Given the description of an element on the screen output the (x, y) to click on. 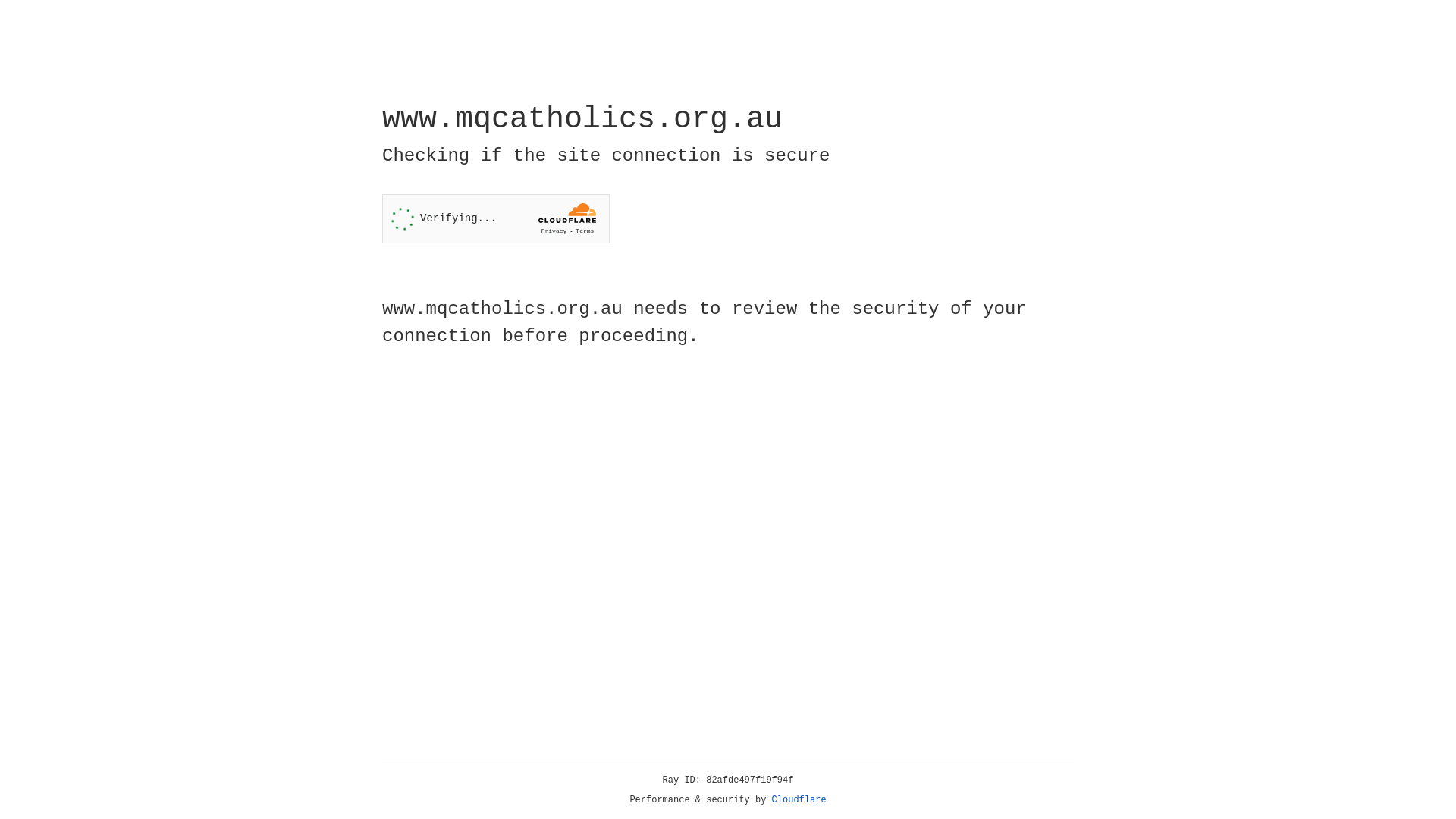
Widget containing a Cloudflare security challenge Element type: hover (495, 218)
Cloudflare Element type: text (798, 799)
